Given the description of an element on the screen output the (x, y) to click on. 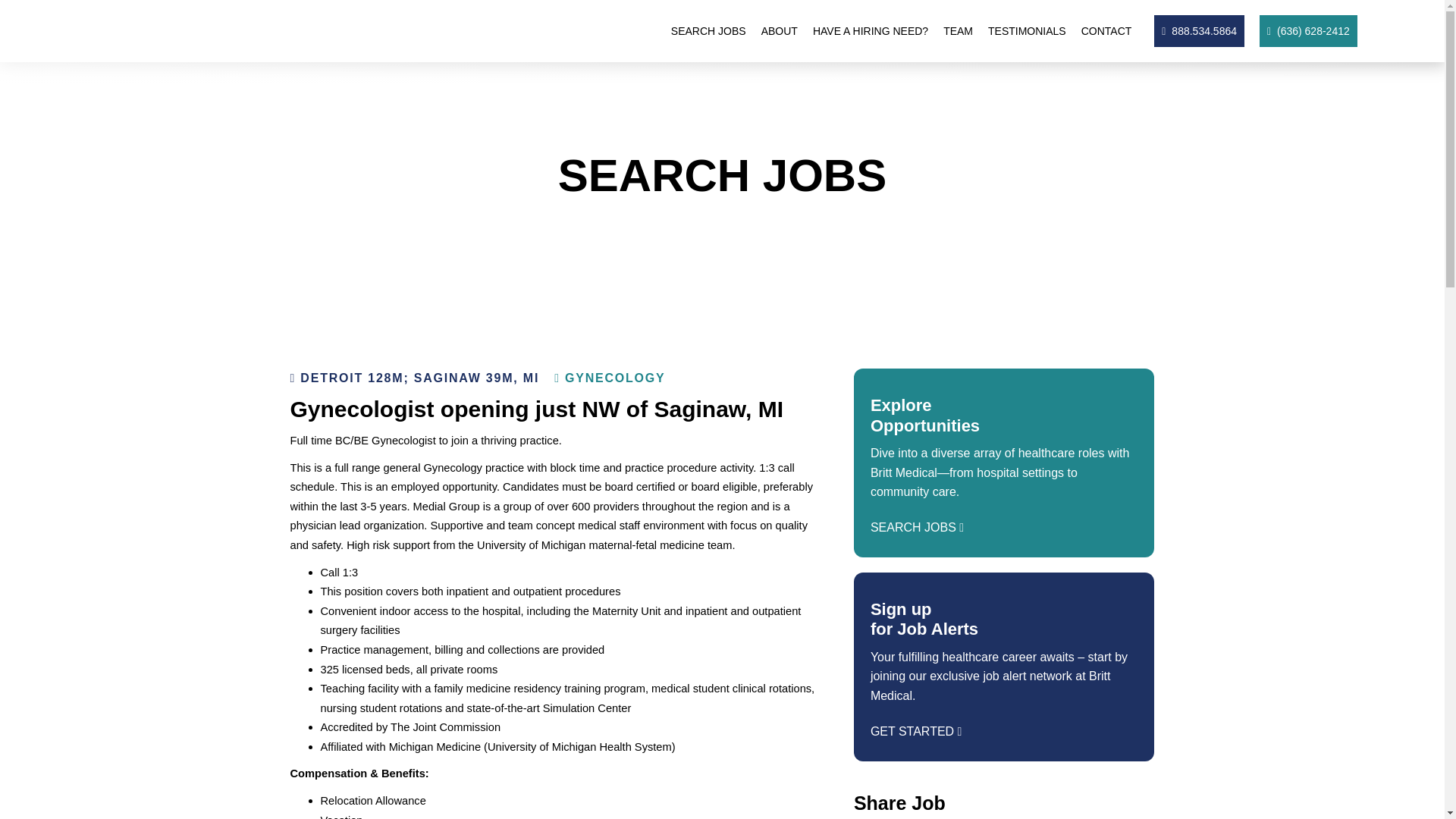
TEAM (957, 30)
HAVE A HIRING NEED? (870, 30)
888.534.5864 (1199, 30)
TESTIMONIALS (1026, 30)
ABOUT (779, 30)
SEARCH JOBS (708, 30)
CONTACT (1107, 30)
